Given the description of an element on the screen output the (x, y) to click on. 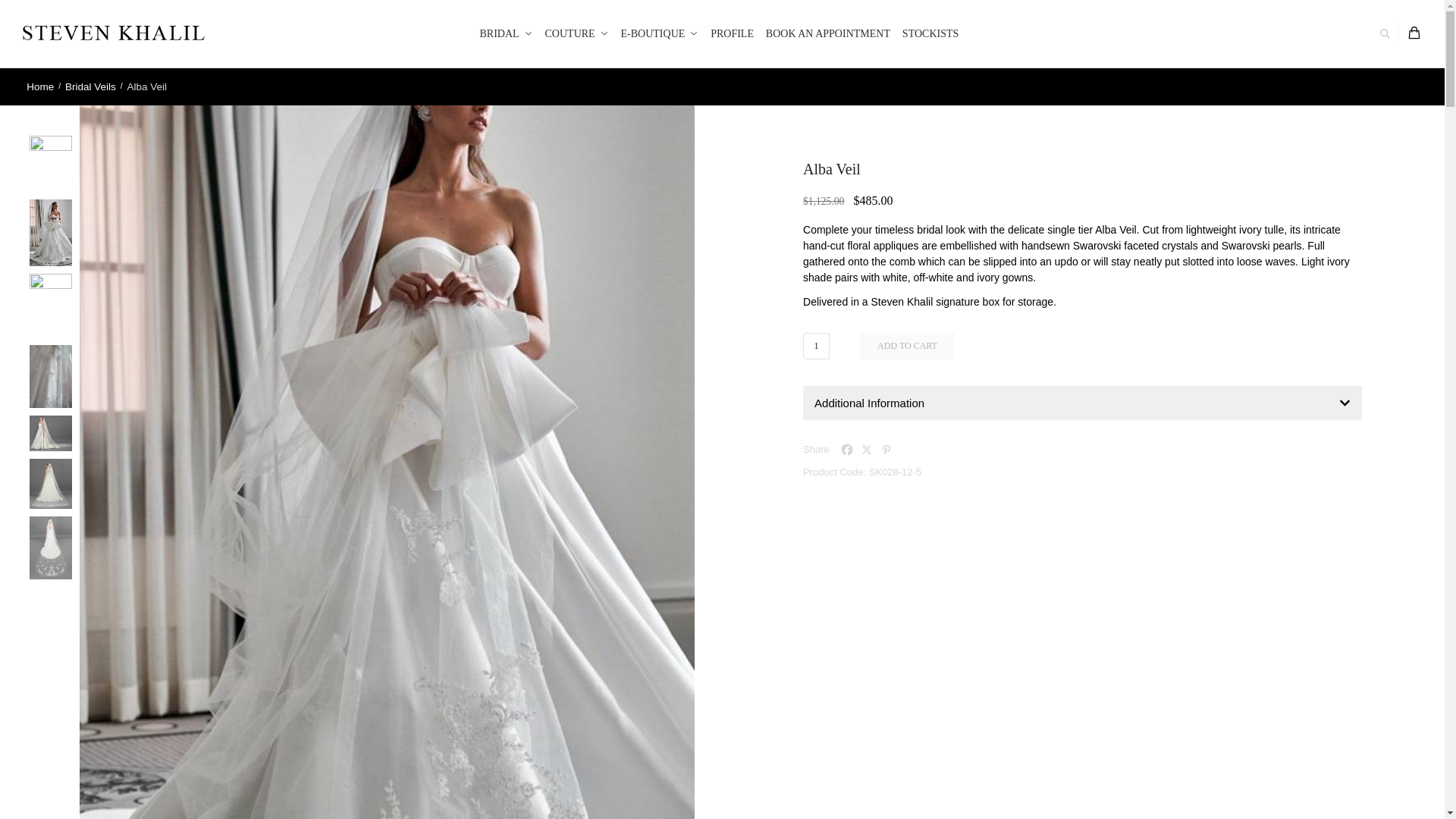
COUTURE (576, 33)
BOOK AN APPOINTMENT (828, 33)
STOCKISTS (929, 33)
1 (816, 345)
E-BOUTIQUE (659, 33)
